Given the description of an element on the screen output the (x, y) to click on. 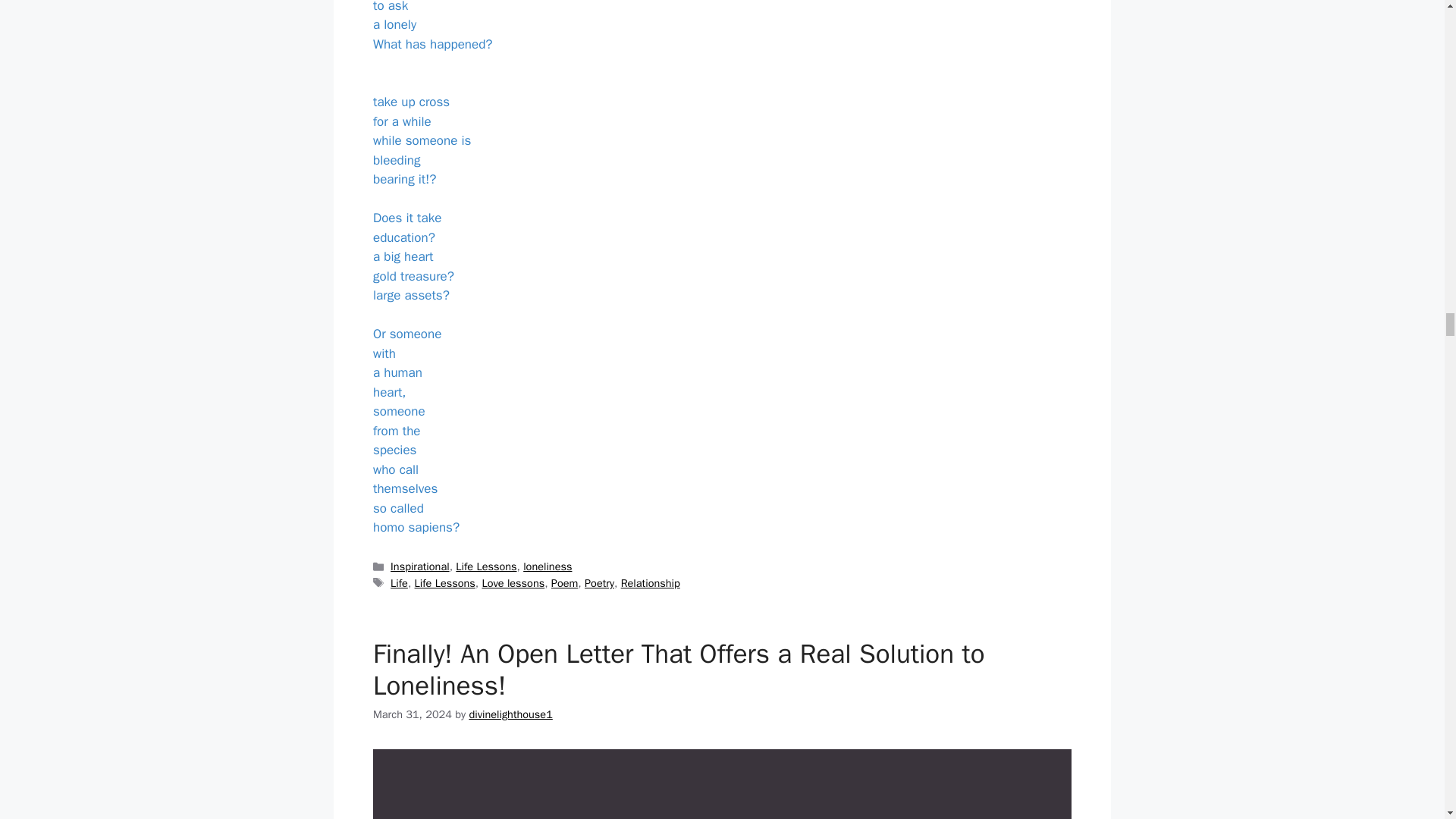
View all posts by divinelighthouse1 (509, 714)
